Given the description of an element on the screen output the (x, y) to click on. 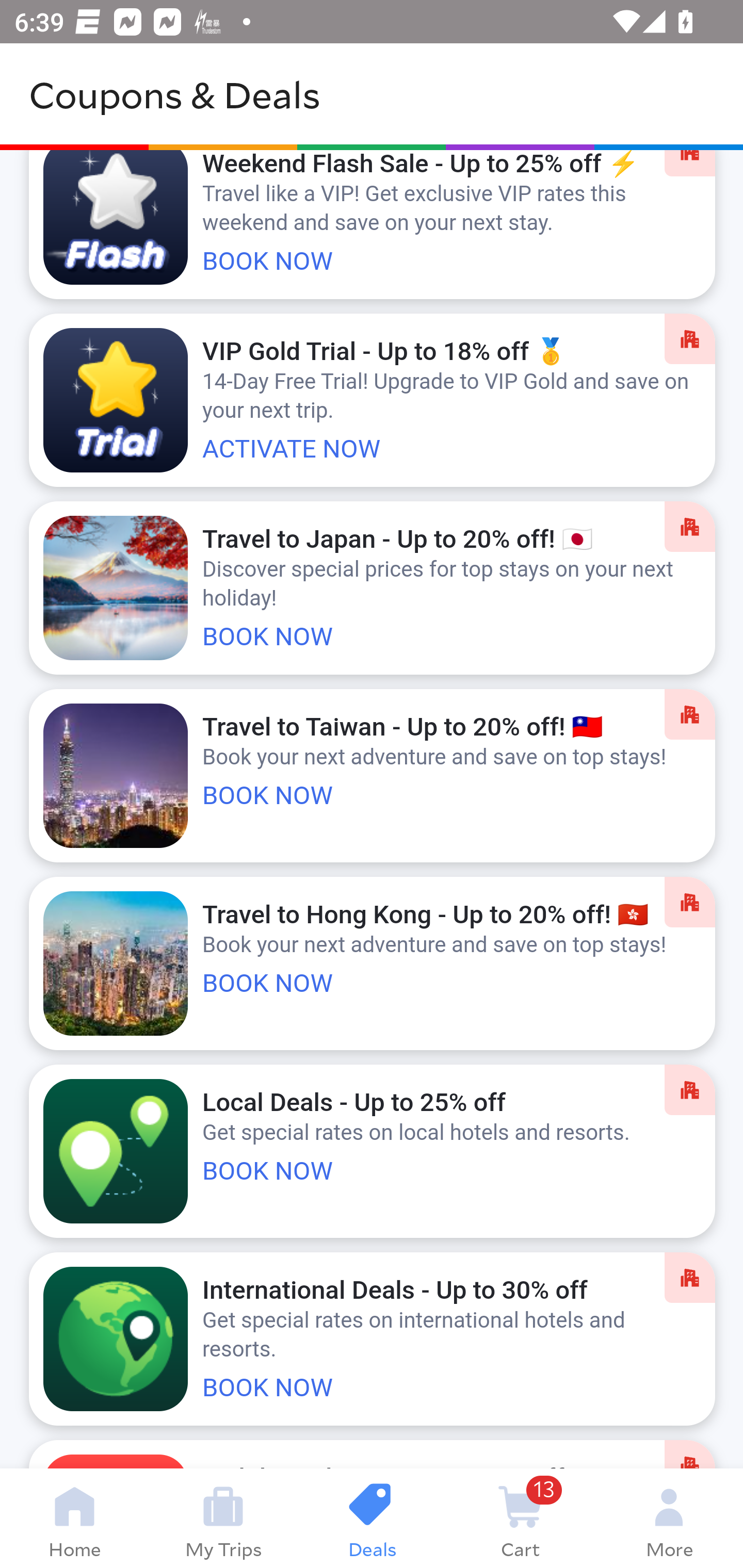
Home (74, 1518)
My Trips (222, 1518)
Deals (371, 1518)
13 Cart (519, 1518)
More (668, 1518)
